Given the description of an element on the screen output the (x, y) to click on. 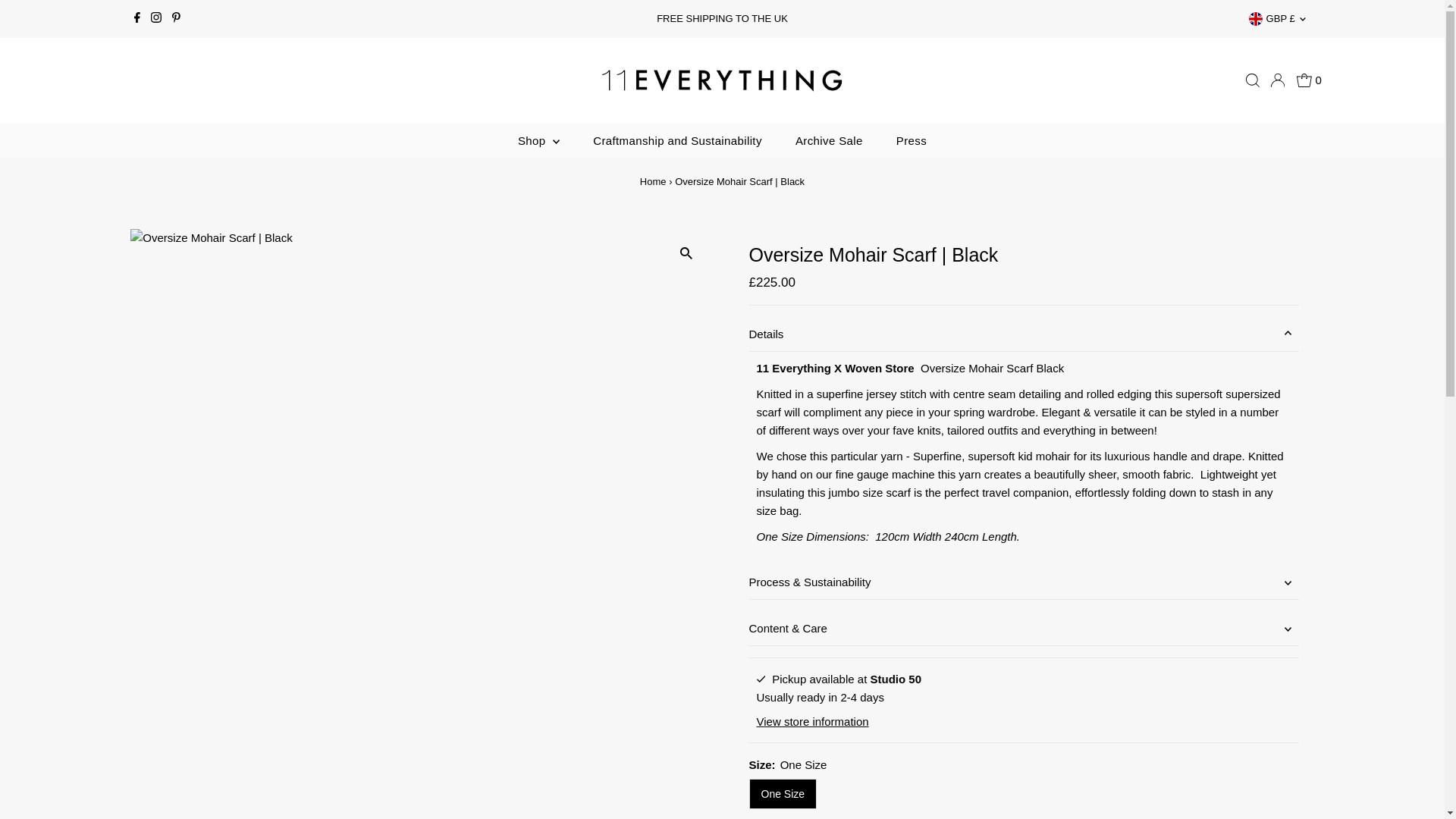
Skip to content (52, 18)
